Given the description of an element on the screen output the (x, y) to click on. 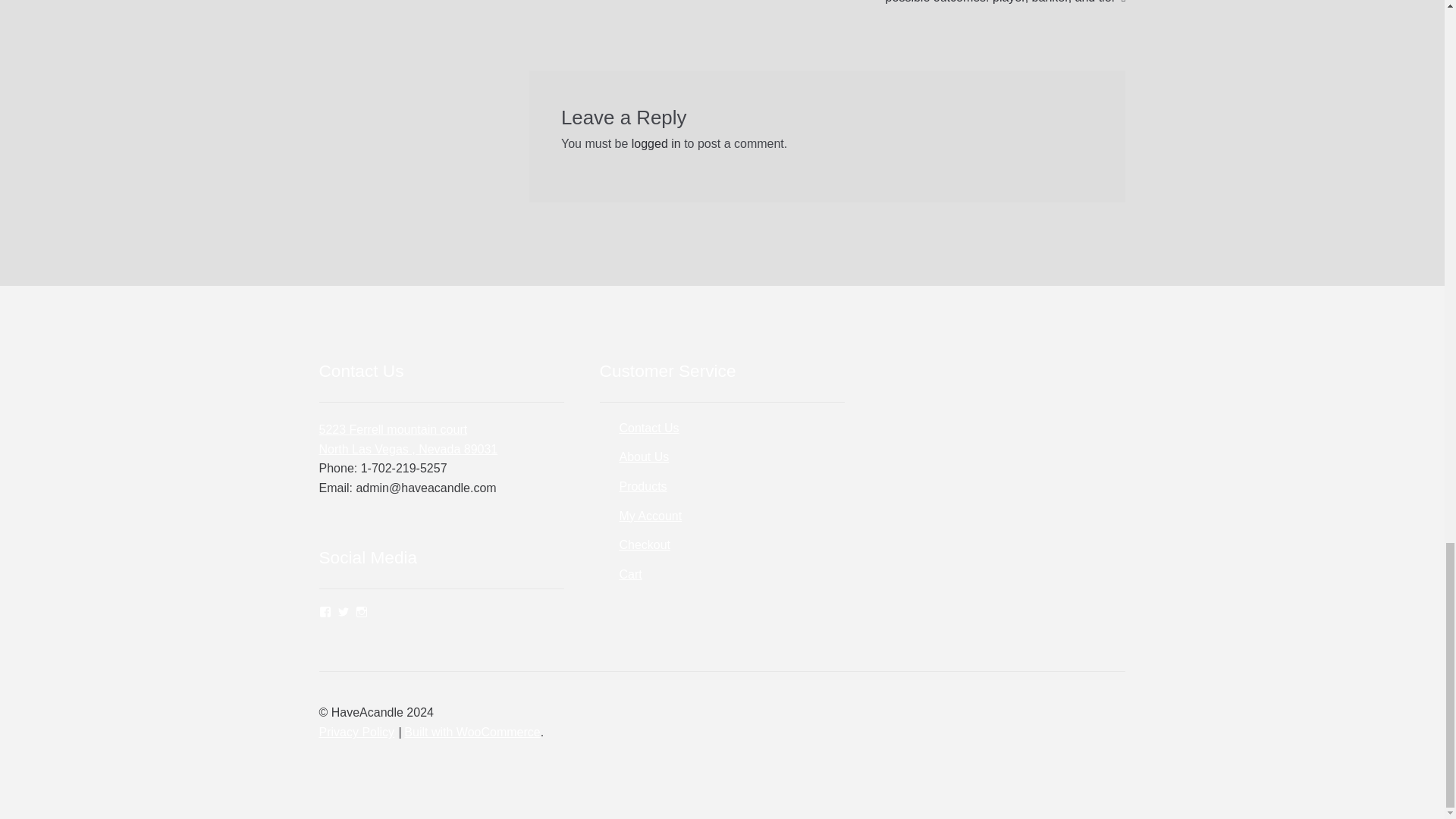
My Account (649, 515)
About Us (643, 456)
Contact Us (407, 439)
Checkout (648, 427)
logged in (643, 544)
WooCommerce - The Best eCommerce Platform for WordPress (656, 143)
Products (472, 731)
Cart (642, 486)
